Given the description of an element on the screen output the (x, y) to click on. 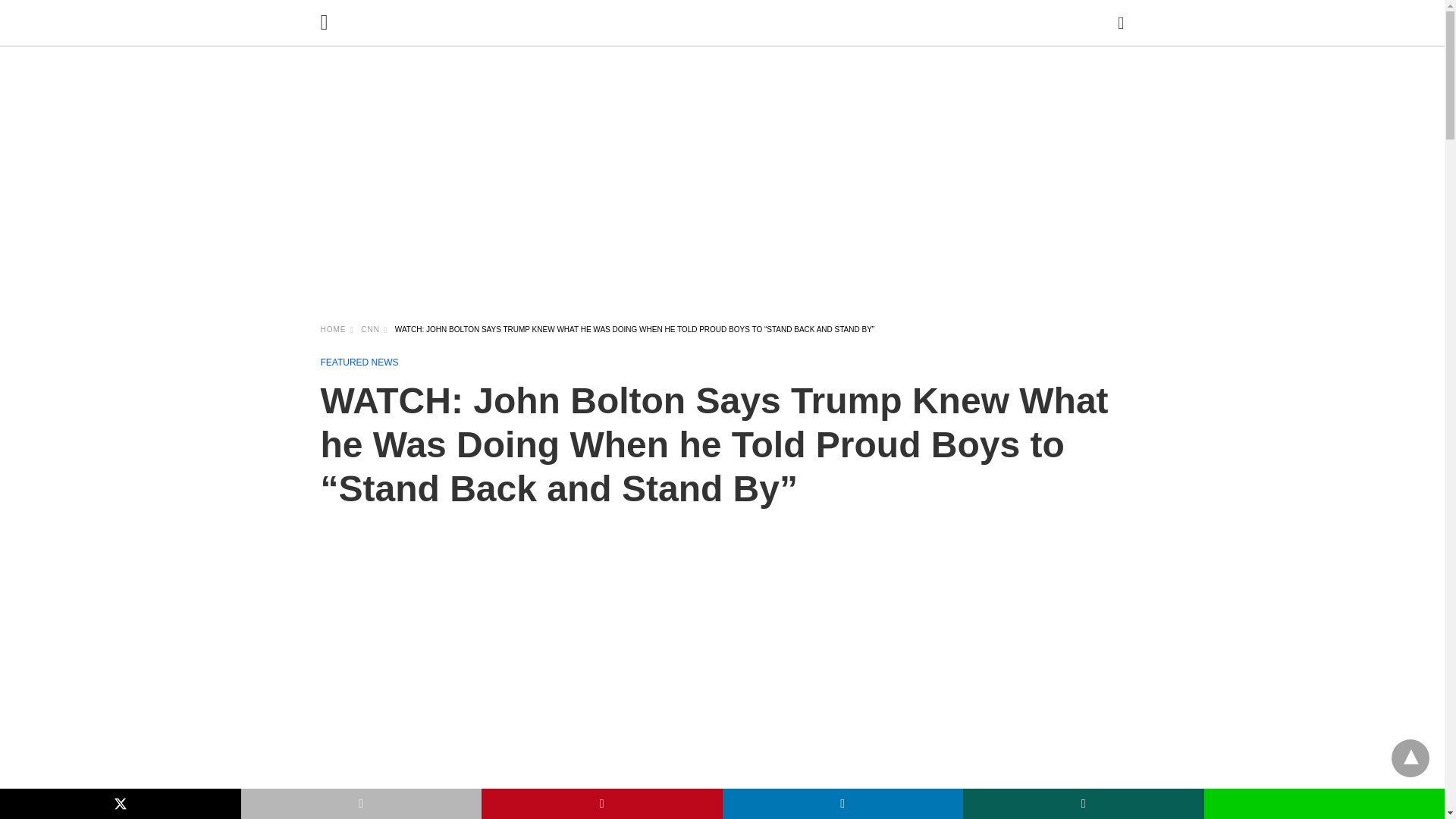
PoliticusUSA (725, 47)
CNN (374, 329)
FEATURED NEWS (358, 362)
Featured News (358, 362)
HOME (336, 329)
